Given the description of an element on the screen output the (x, y) to click on. 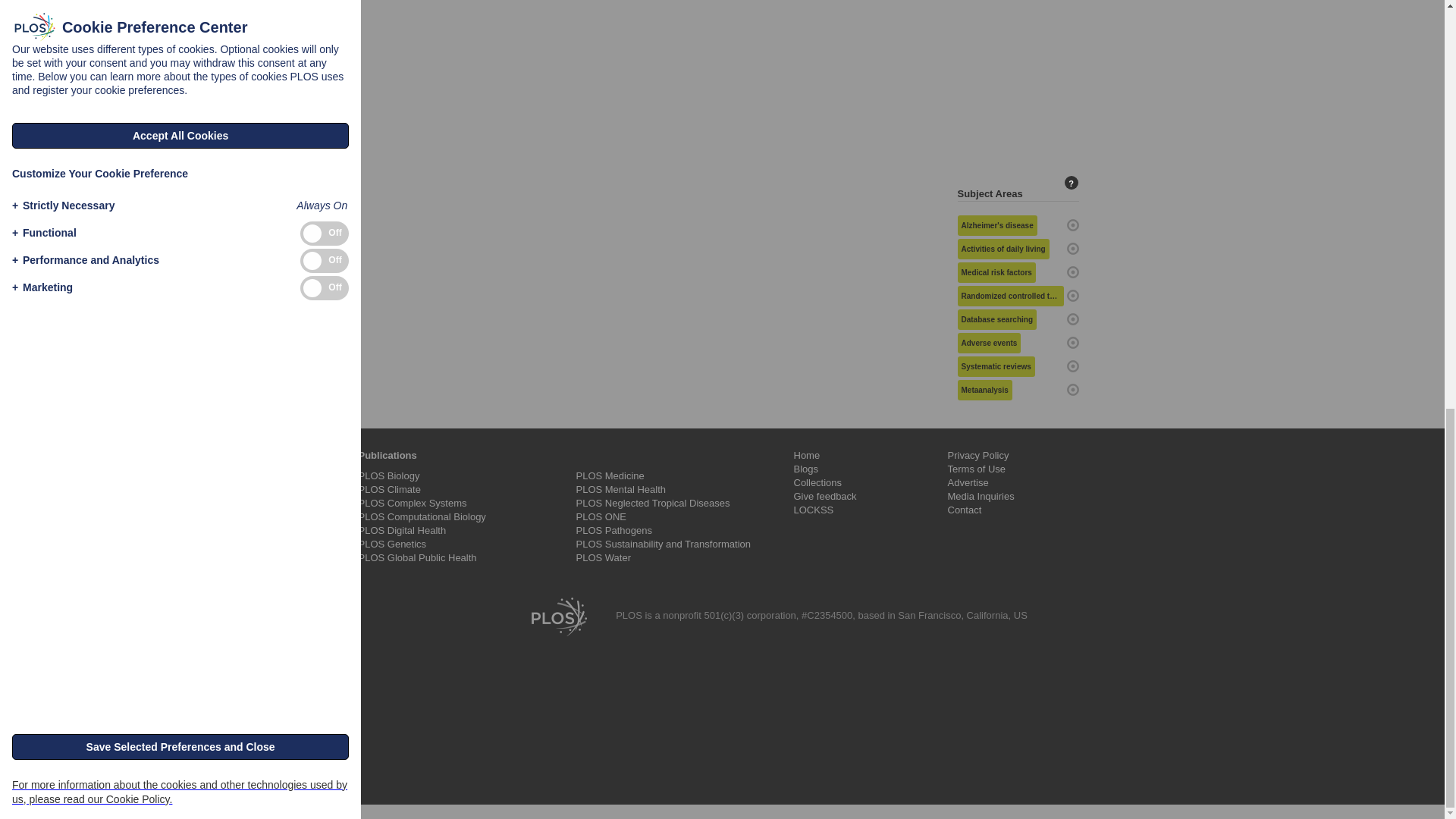
Search for articles about Metaanalysis (983, 390)
Search for articles about Database searching (996, 319)
Search for articles about Alzheimer's disease (996, 225)
Search for articles about Adverse events (988, 342)
Search for articles about Randomized controlled trials (1009, 295)
Search for articles about Systematic reviews (994, 366)
Search for articles about Activities of daily living (1002, 249)
Search for articles about Medical risk factors (995, 272)
